Given the description of an element on the screen output the (x, y) to click on. 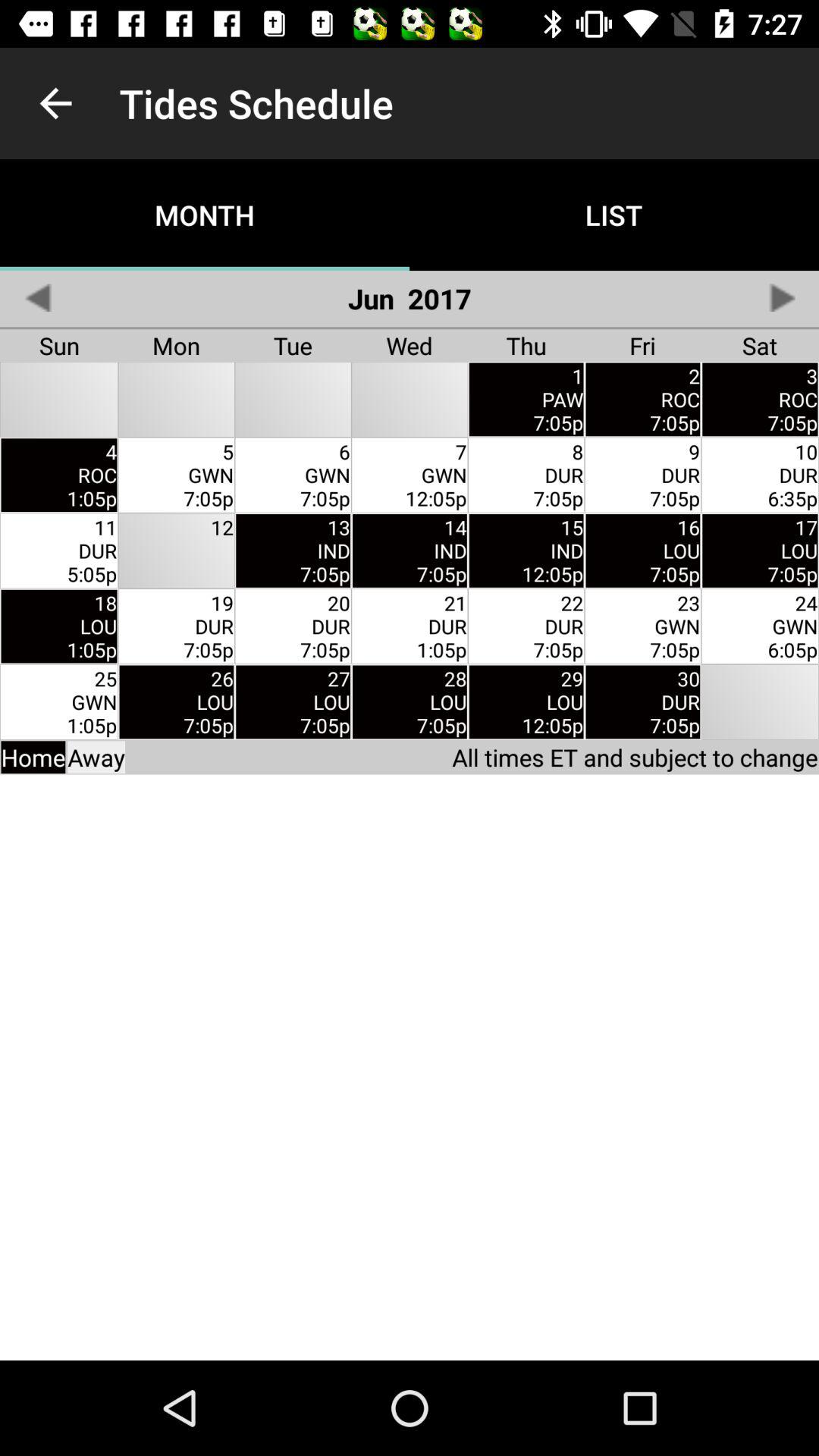
tap the icon next to month (37, 297)
